Given the description of an element on the screen output the (x, y) to click on. 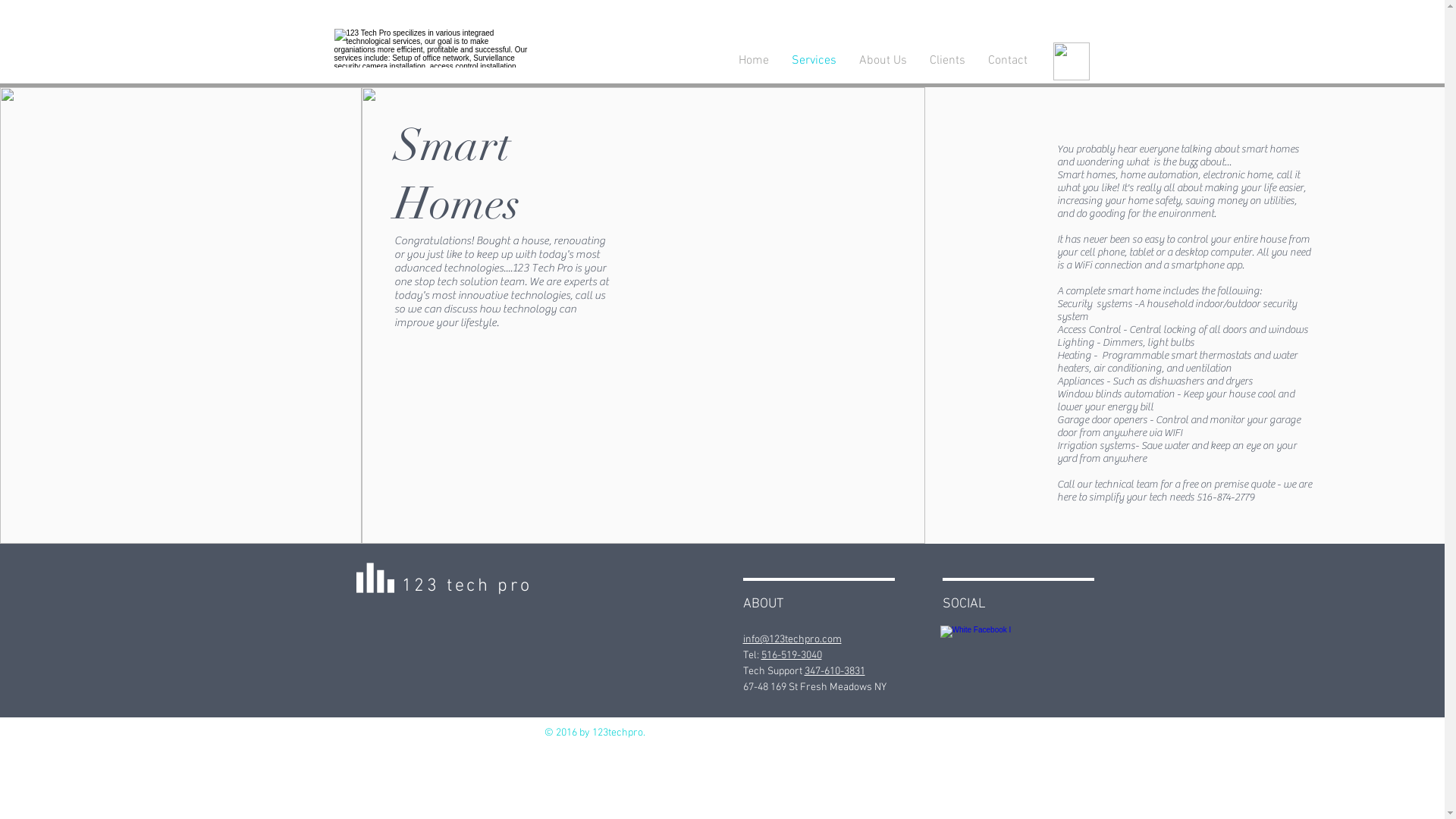
Services Element type: text (921, 376)
Services Element type: text (813, 60)
123 tech pro Element type: text (466, 585)
Home Element type: text (752, 60)
Contact Element type: text (1007, 60)
347-610-3831 Element type: text (833, 671)
Clients Element type: text (946, 60)
POLYSTAT Element type: text (451, 379)
Contact Element type: text (1075, 376)
Home Element type: text (874, 376)
Clients Element type: text (1027, 376)
About Us Element type: text (976, 376)
About Us Element type: text (882, 60)
516-519-3040 Element type: text (791, 655)
info@123techpro.com Element type: text (792, 639)
